Given the description of an element on the screen output the (x, y) to click on. 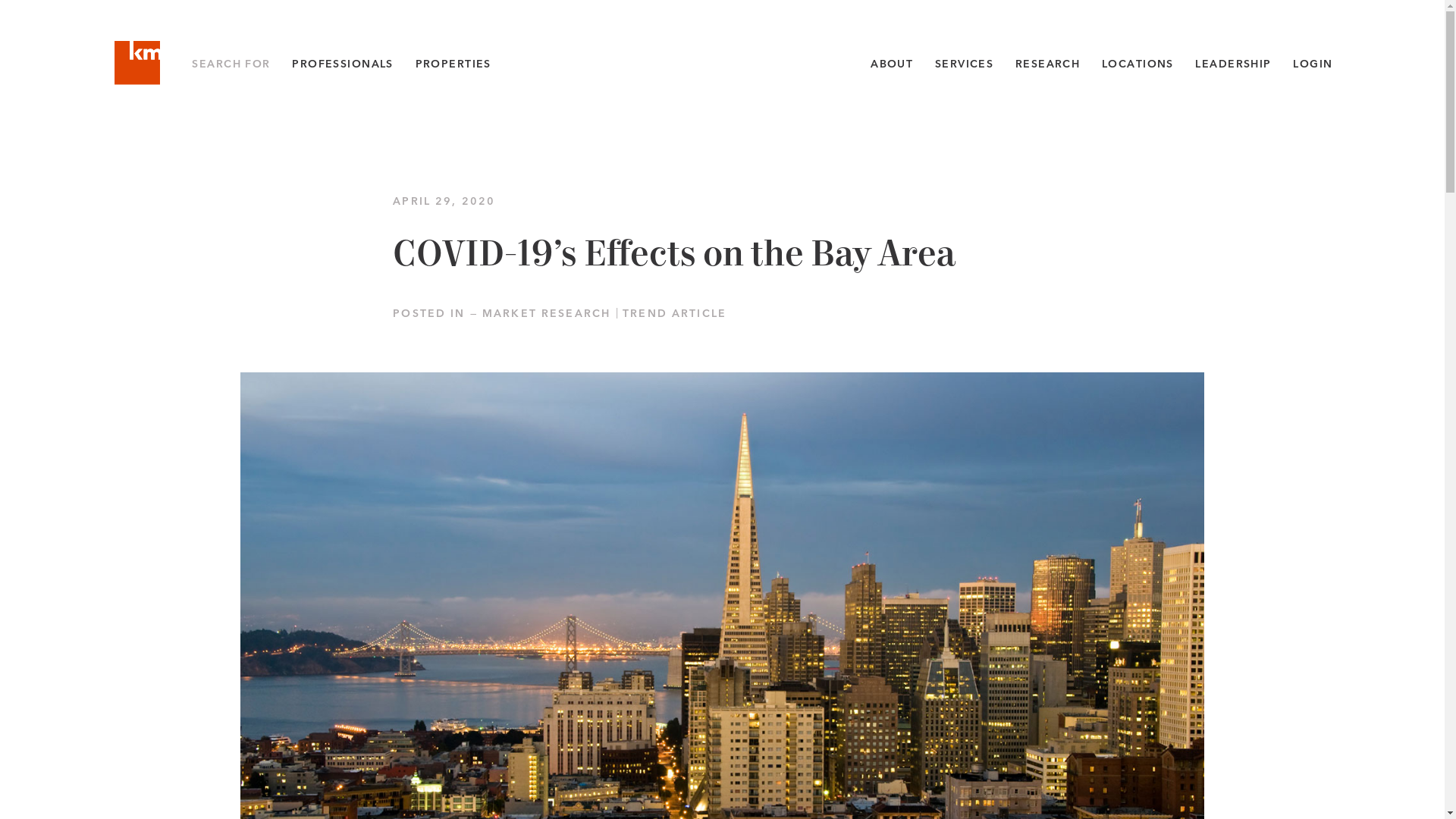
PROPERTIES (453, 63)
LOCATIONS (1137, 63)
MARKET RESEARCH (545, 313)
LEADERSHIP (1233, 63)
TREND ARTICLE (674, 313)
ABOUT (891, 63)
RESEARCH (1047, 63)
SERVICES (963, 63)
LOGIN (1312, 63)
PROFESSIONALS (342, 63)
